Given the description of an element on the screen output the (x, y) to click on. 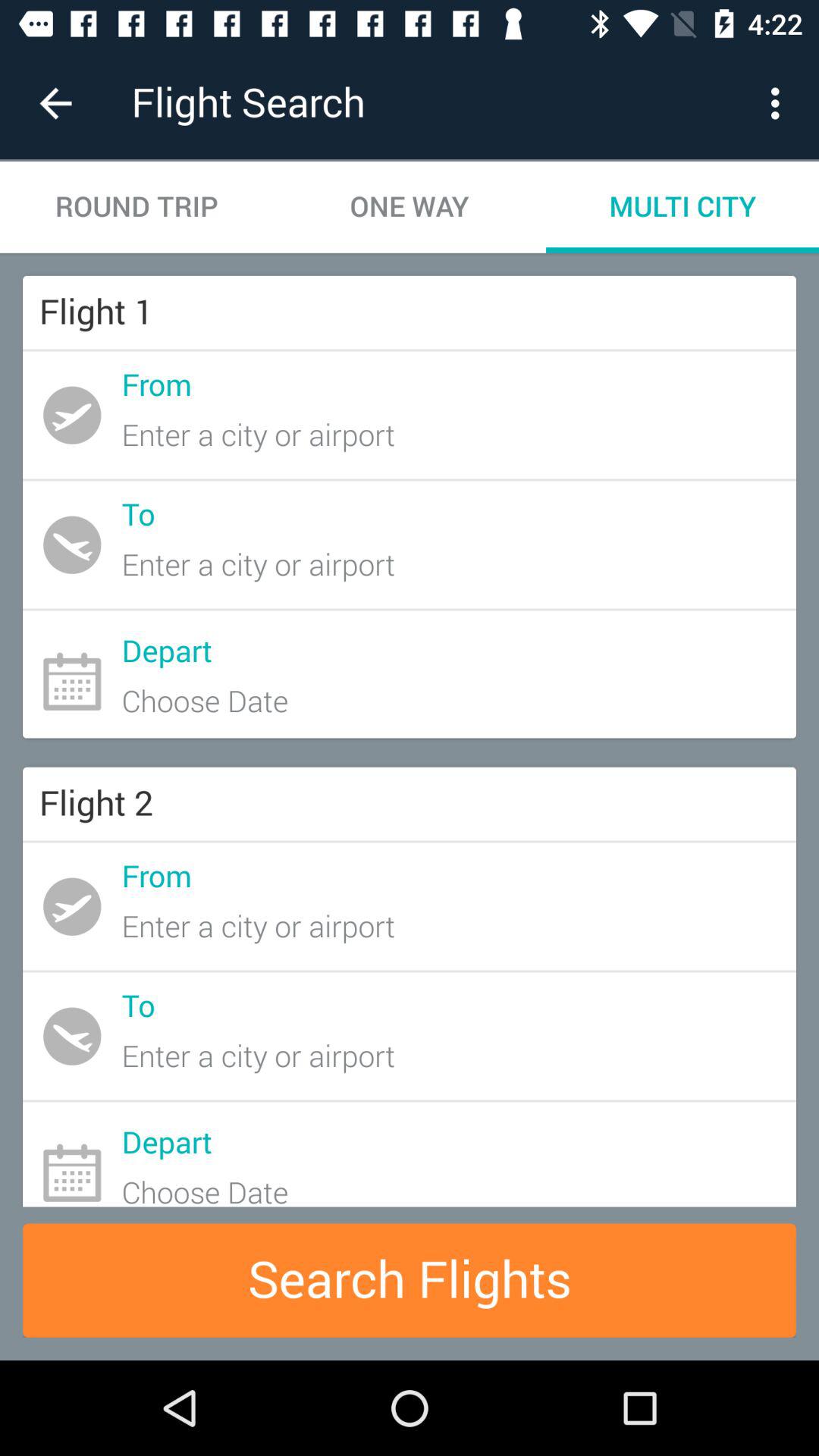
click the calendar icon on the web page (72, 680)
select the whole section flight 1 (409, 506)
click on three vertical dots in the top right corner of the web page (779, 103)
